Given the description of an element on the screen output the (x, y) to click on. 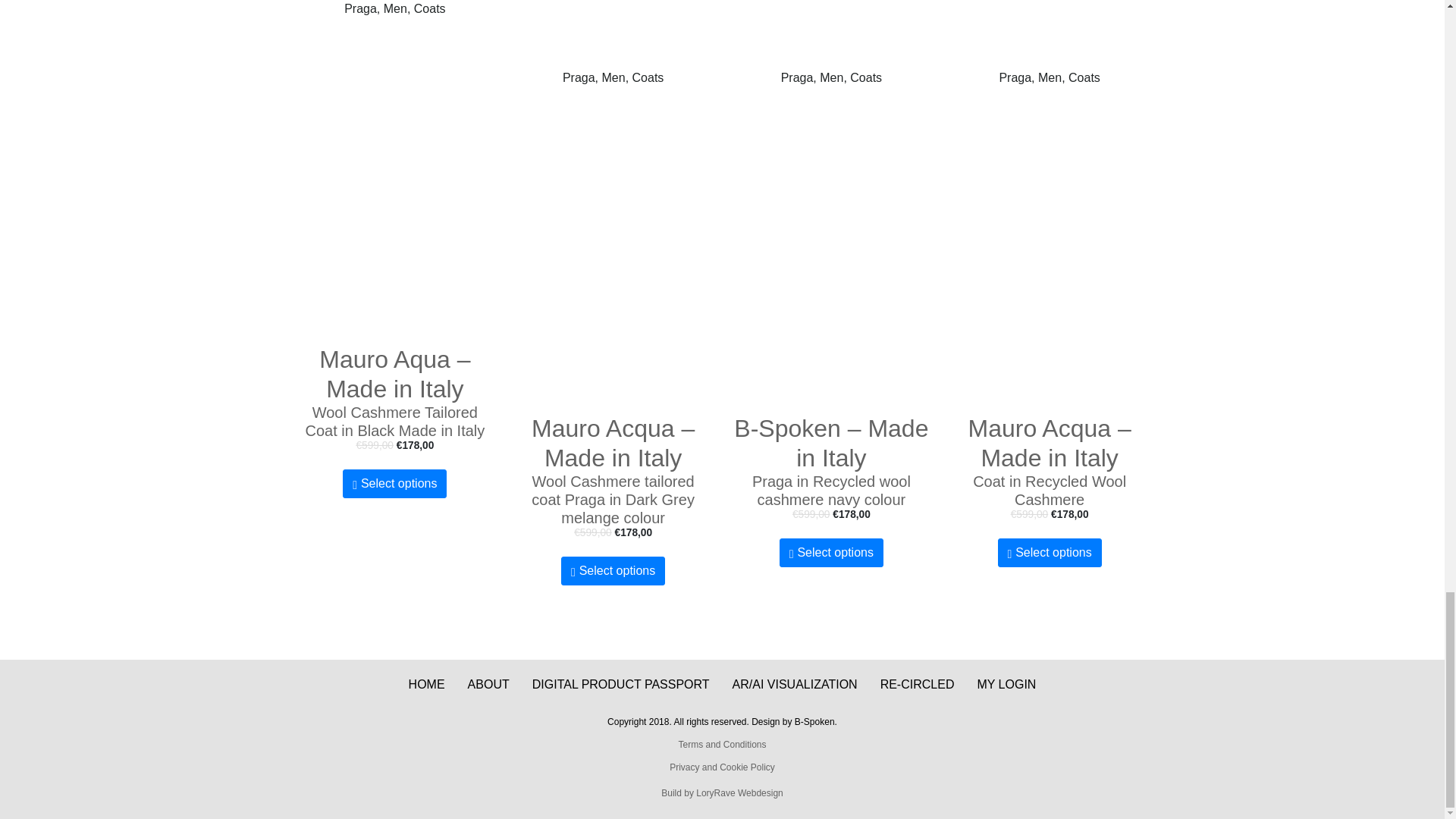
DIGITAL PRODUCT PASSPORT (620, 684)
Privacy and Cookie Policy (721, 767)
MY LOGIN (1005, 684)
Build by LoryRave Webdesign (722, 792)
Select options (394, 483)
Terms and Conditions (721, 744)
Select options (830, 552)
HOME (427, 684)
ABOUT (489, 684)
Select options (612, 570)
